Given the description of an element on the screen output the (x, y) to click on. 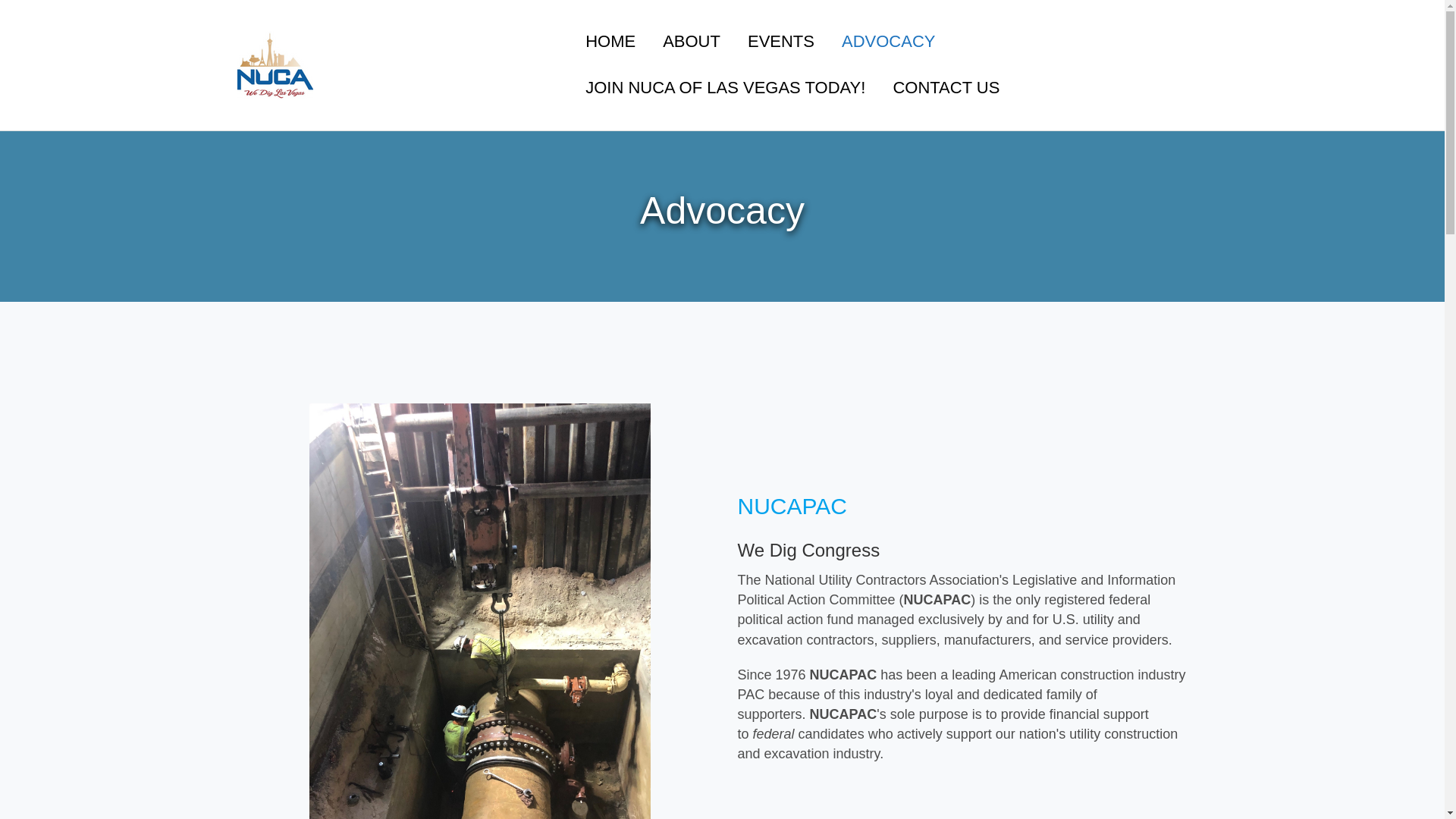
CONTACT US (946, 88)
HOME (610, 41)
EVENTS (780, 41)
ADVOCACY (888, 41)
ABOUT (691, 41)
JOIN NUCA OF LAS VEGAS TODAY! (725, 88)
